Given the description of an element on the screen output the (x, y) to click on. 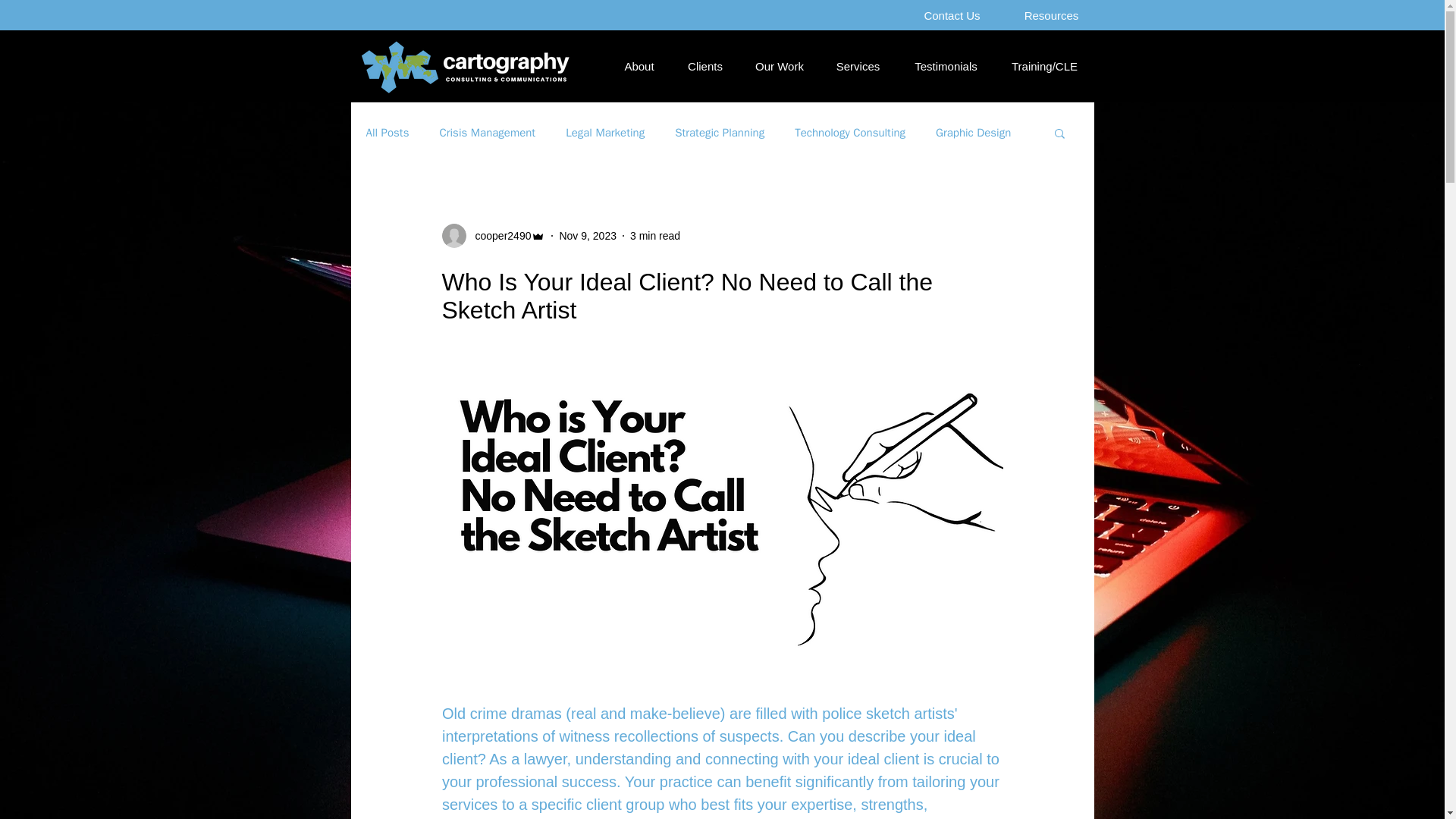
3 min read (654, 234)
Testimonials (945, 66)
cooper2490 (498, 235)
About (639, 66)
Contact Us (952, 15)
Graphic Design (973, 133)
All Posts (387, 133)
Crisis Management (487, 133)
Technology Consulting (849, 133)
Services (857, 66)
